Given the description of an element on the screen output the (x, y) to click on. 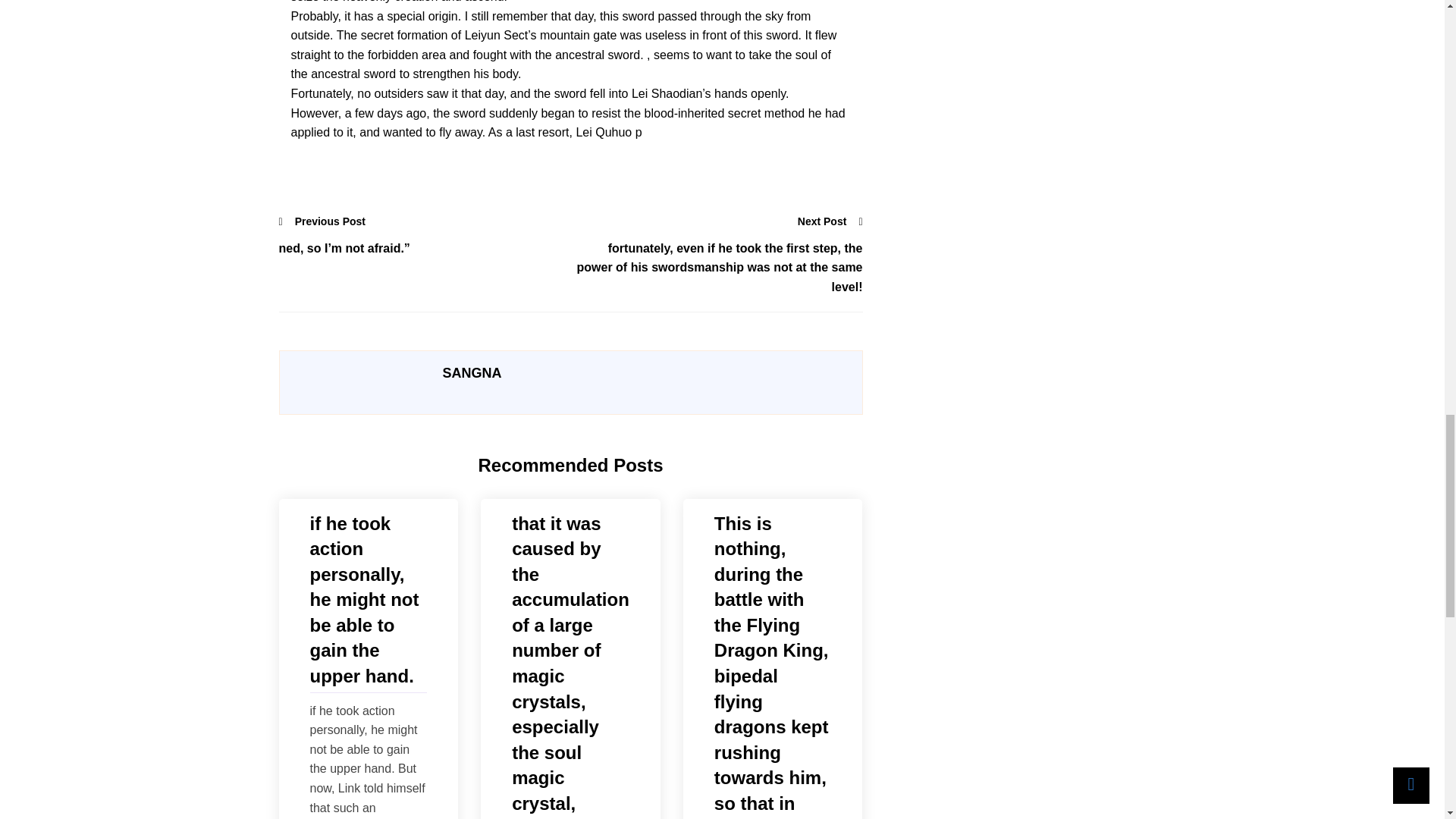
Next Post (830, 221)
Previous Post (322, 221)
